Given the description of an element on the screen output the (x, y) to click on. 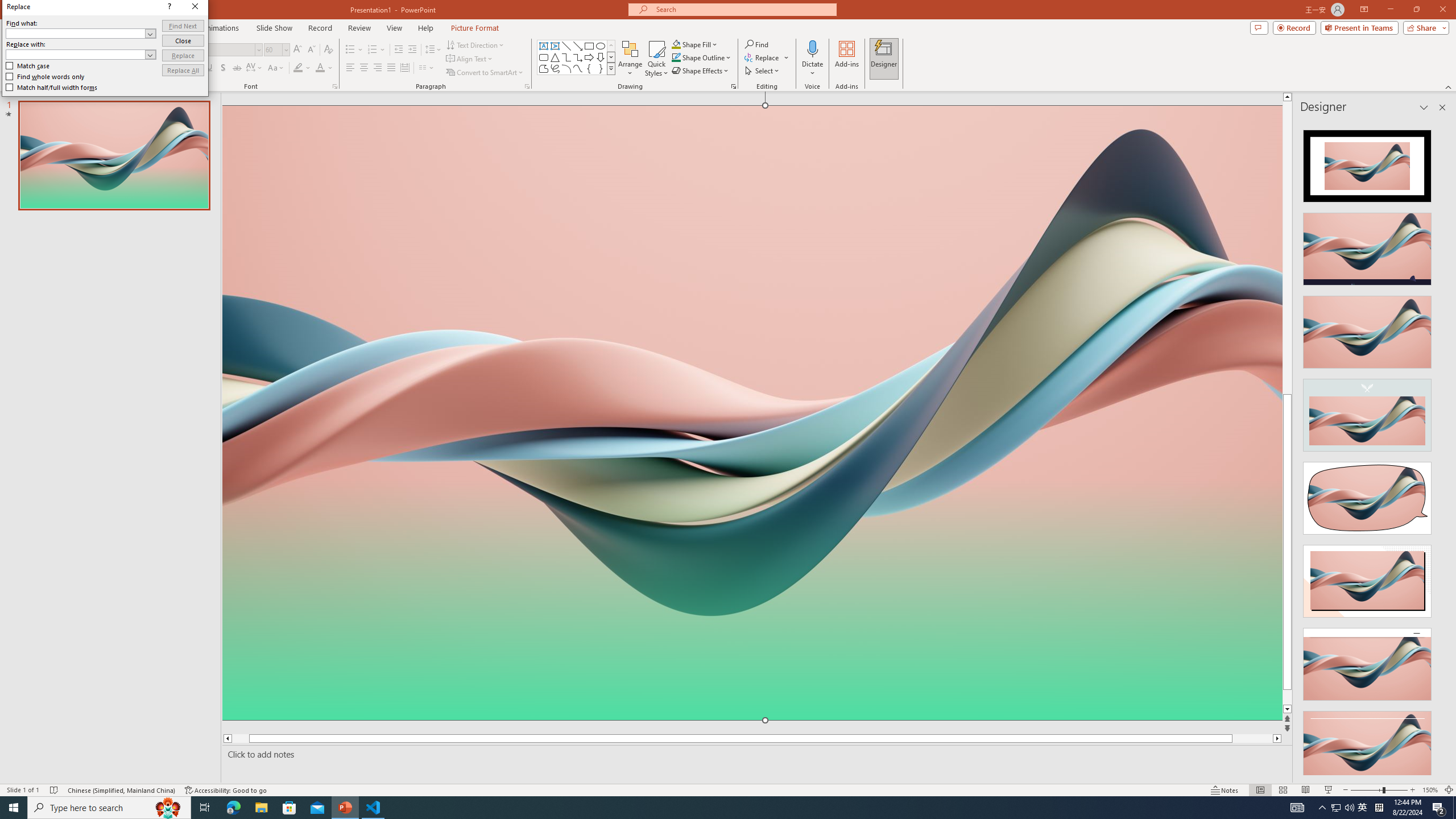
Find... (756, 44)
Oval (600, 45)
Distributed (404, 67)
Bold (182, 67)
Class: NetUIScrollBar (1441, 447)
Replace All (857, 343)
Line Spacing (433, 49)
Freeform: Shape (543, 68)
